Given the description of an element on the screen output the (x, y) to click on. 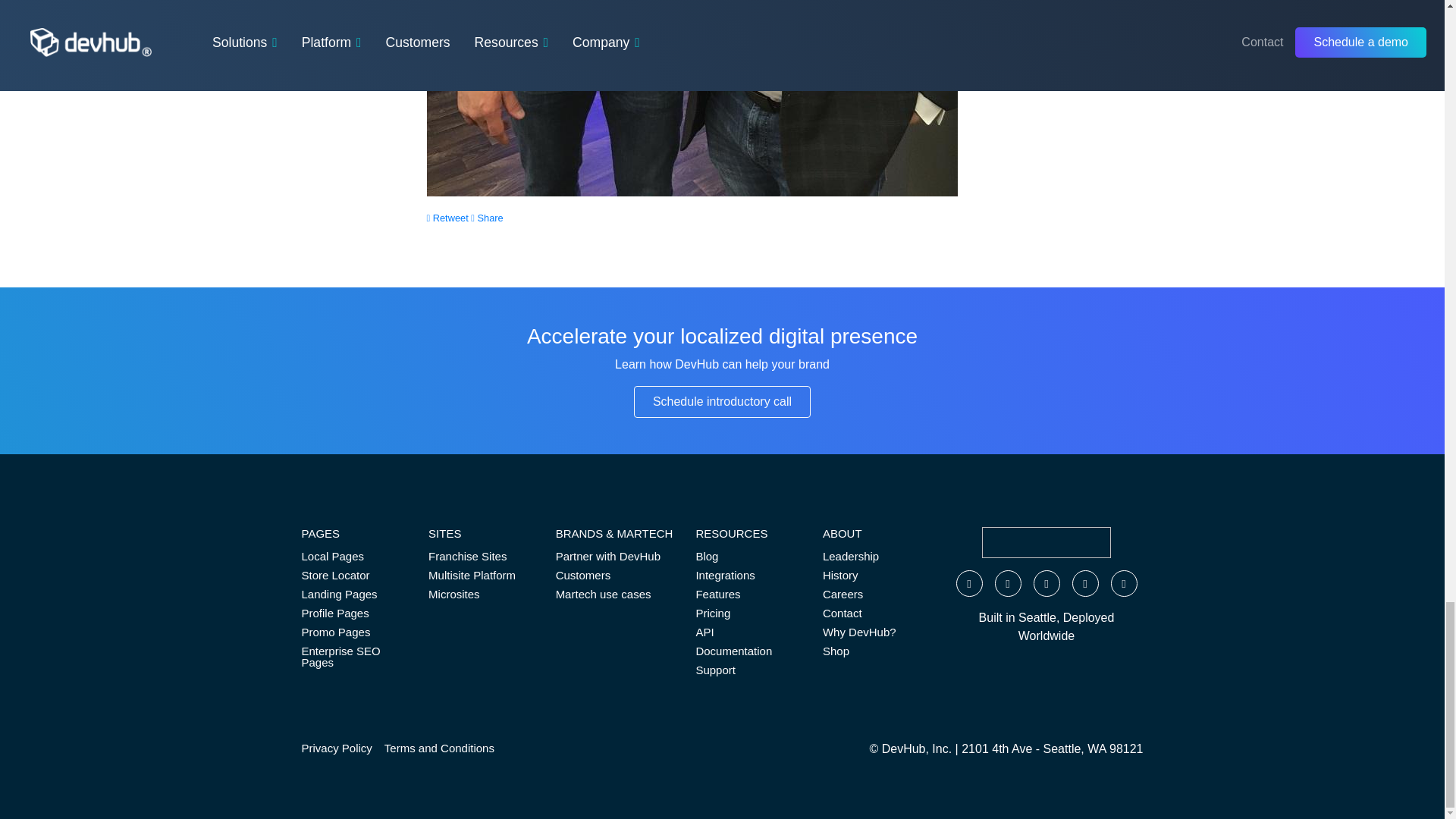
Promo Pages (353, 631)
Landing Pages (353, 593)
Retweet (446, 217)
Share (486, 217)
Local Pages (353, 556)
Profile Pages (353, 612)
Enterprise SEO Pages (353, 656)
Store Locator (353, 574)
Schedule introductory call (721, 401)
